Given the description of an element on the screen output the (x, y) to click on. 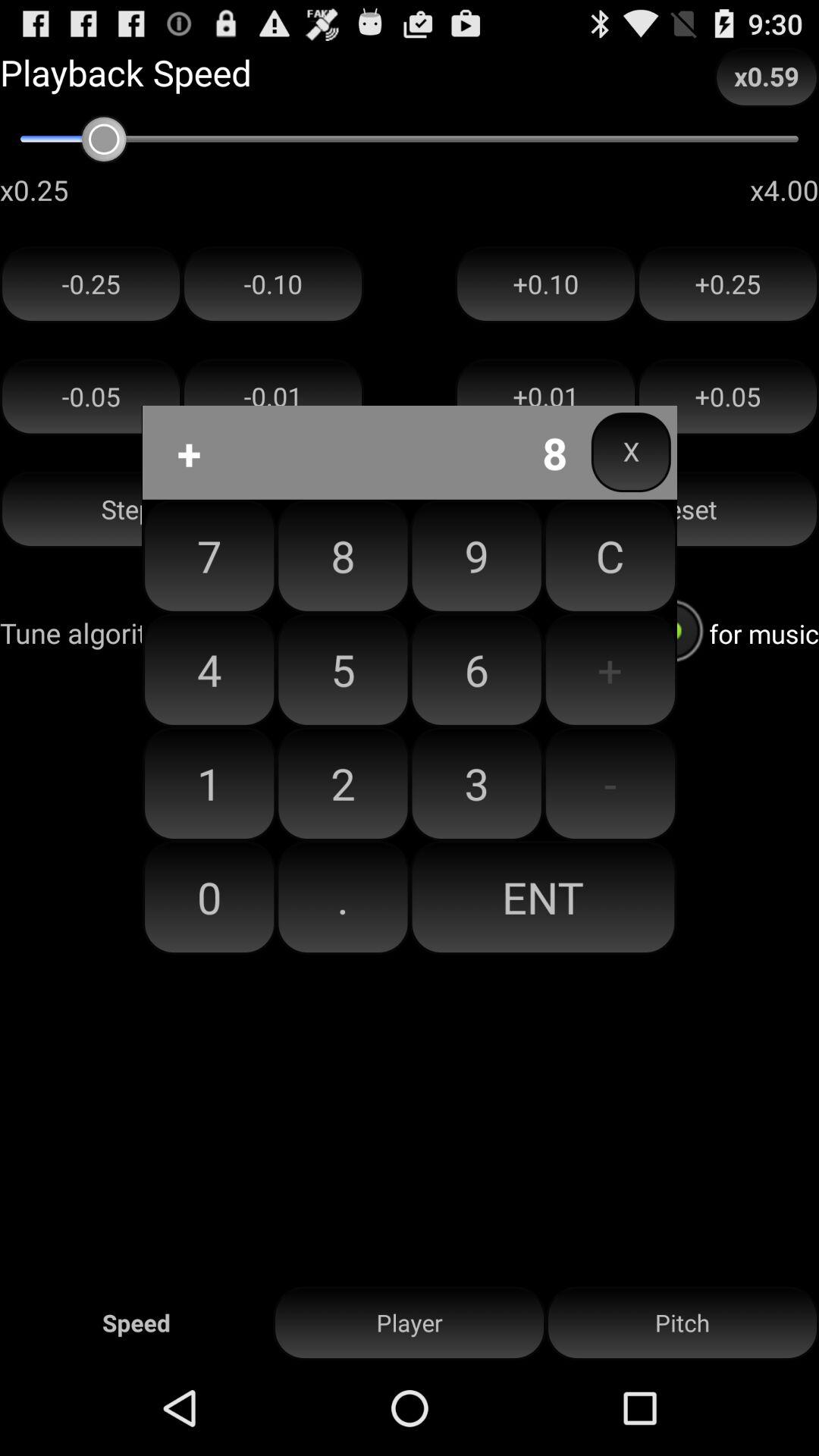
launch the button next to 8 button (476, 669)
